Given the description of an element on the screen output the (x, y) to click on. 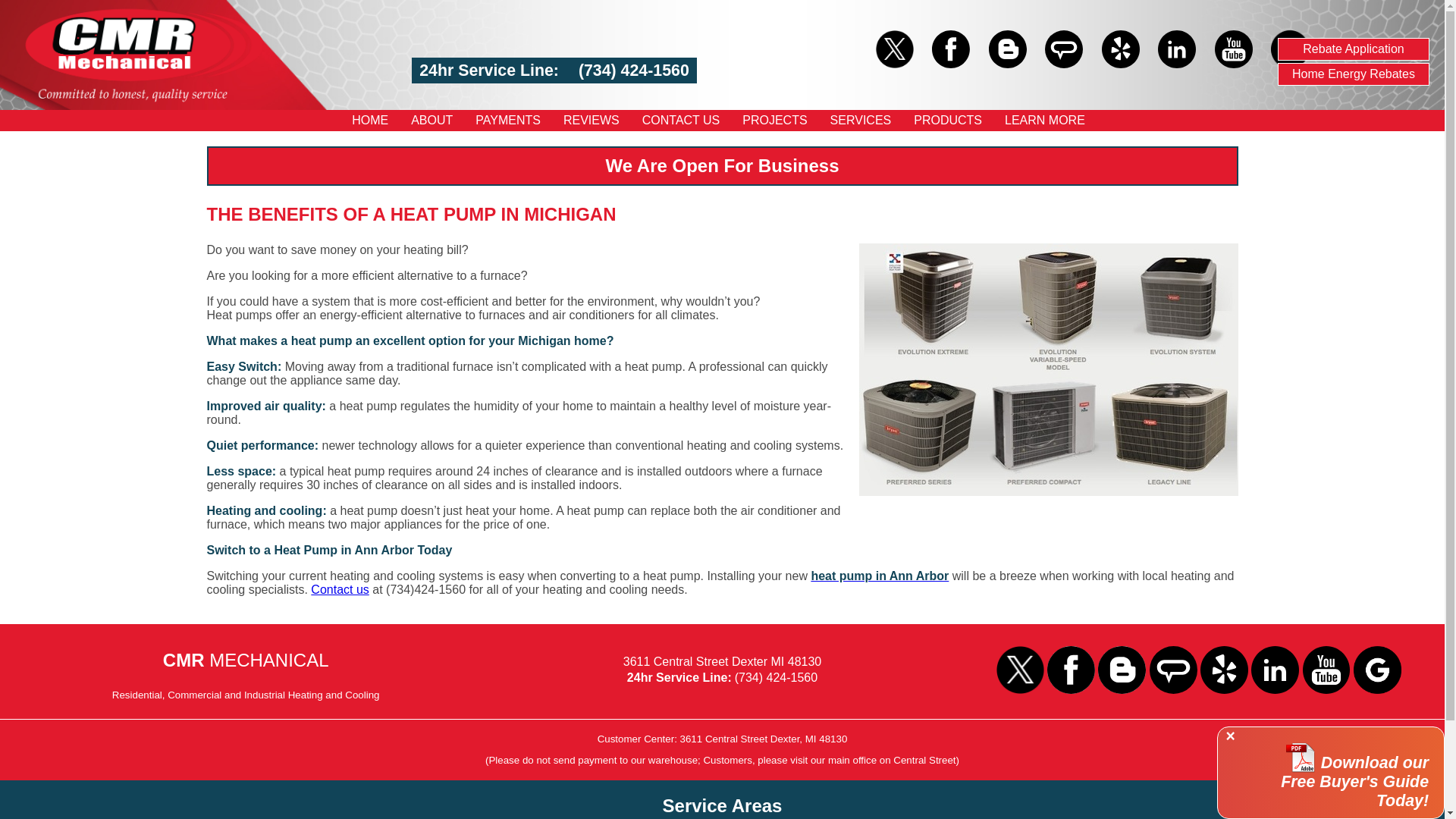
REVIEWS (591, 120)
Home Energy Rebates (1353, 74)
SERVICES (860, 120)
ABOUT (431, 120)
PROJECTS (774, 120)
PAYMENTS (507, 120)
Rebate Application (1353, 48)
CONTACT US (681, 120)
HOME (369, 120)
24hr Service Line: (491, 70)
